Given the description of an element on the screen output the (x, y) to click on. 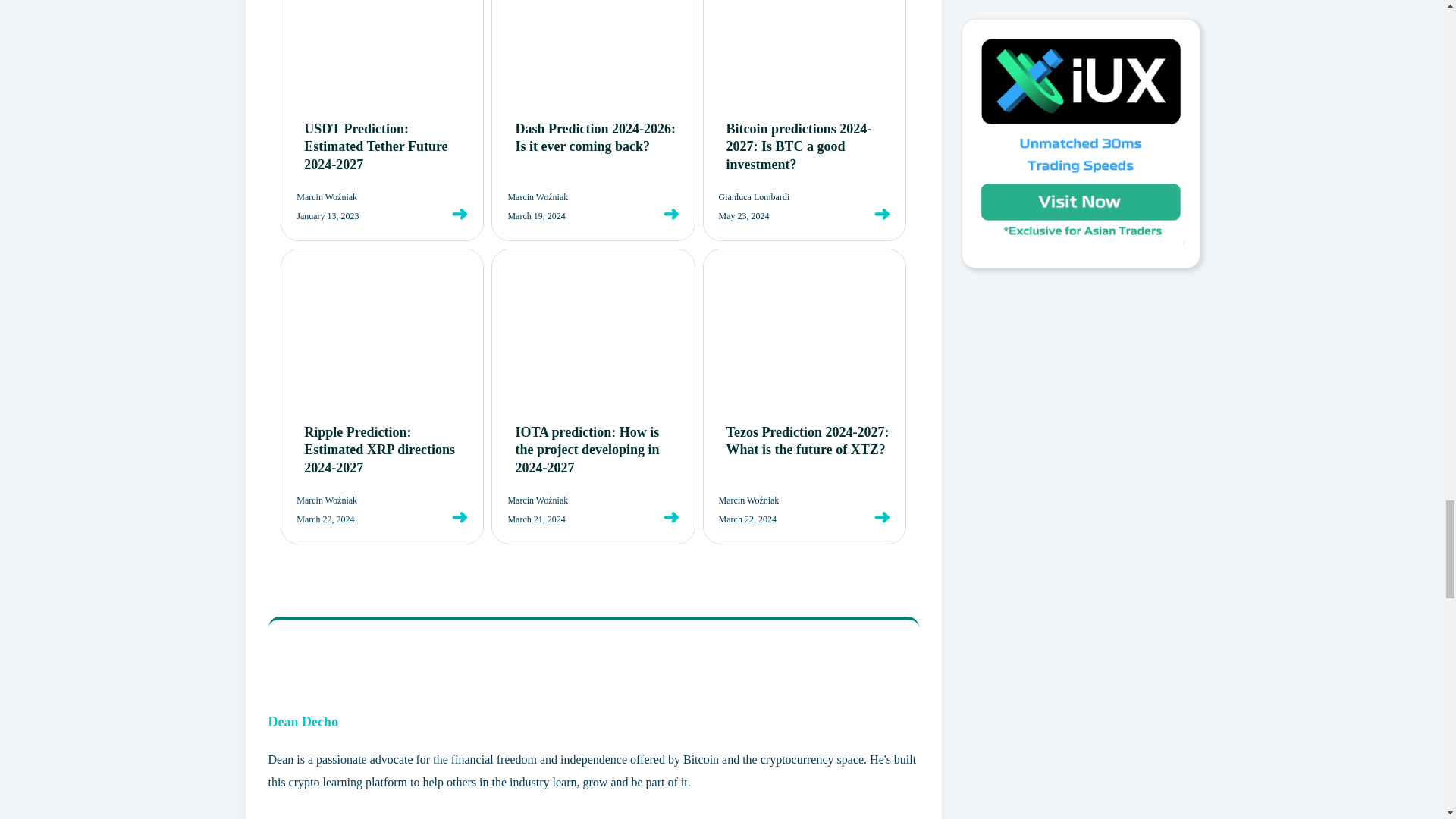
Dean Decho (303, 721)
